Given the description of an element on the screen output the (x, y) to click on. 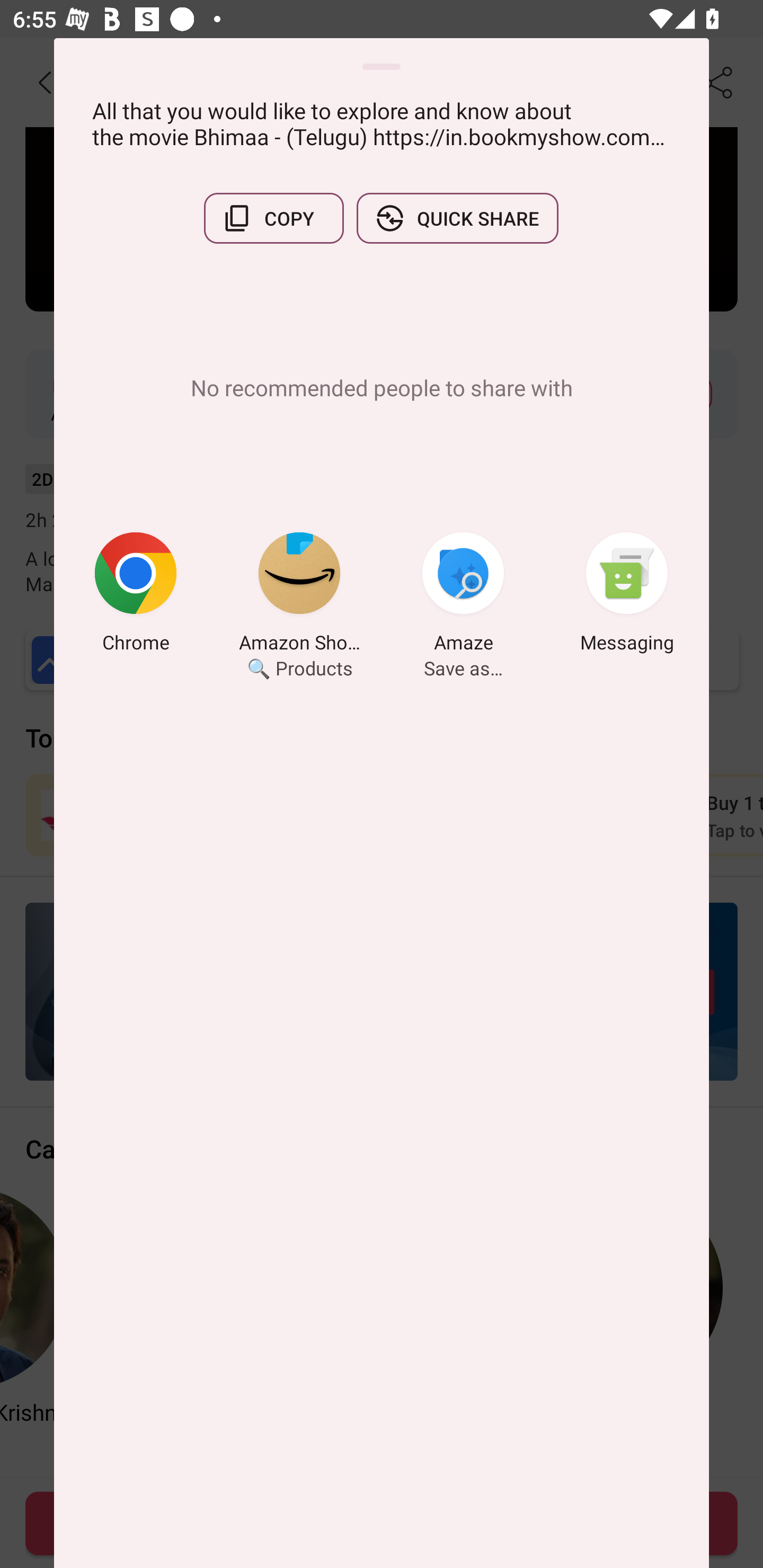
COPY (273, 218)
QUICK SHARE (457, 218)
Chrome (135, 594)
Amazon Shopping 🔍 Products (299, 594)
Amaze Save as… (463, 594)
Messaging (626, 594)
